Given the description of an element on the screen output the (x, y) to click on. 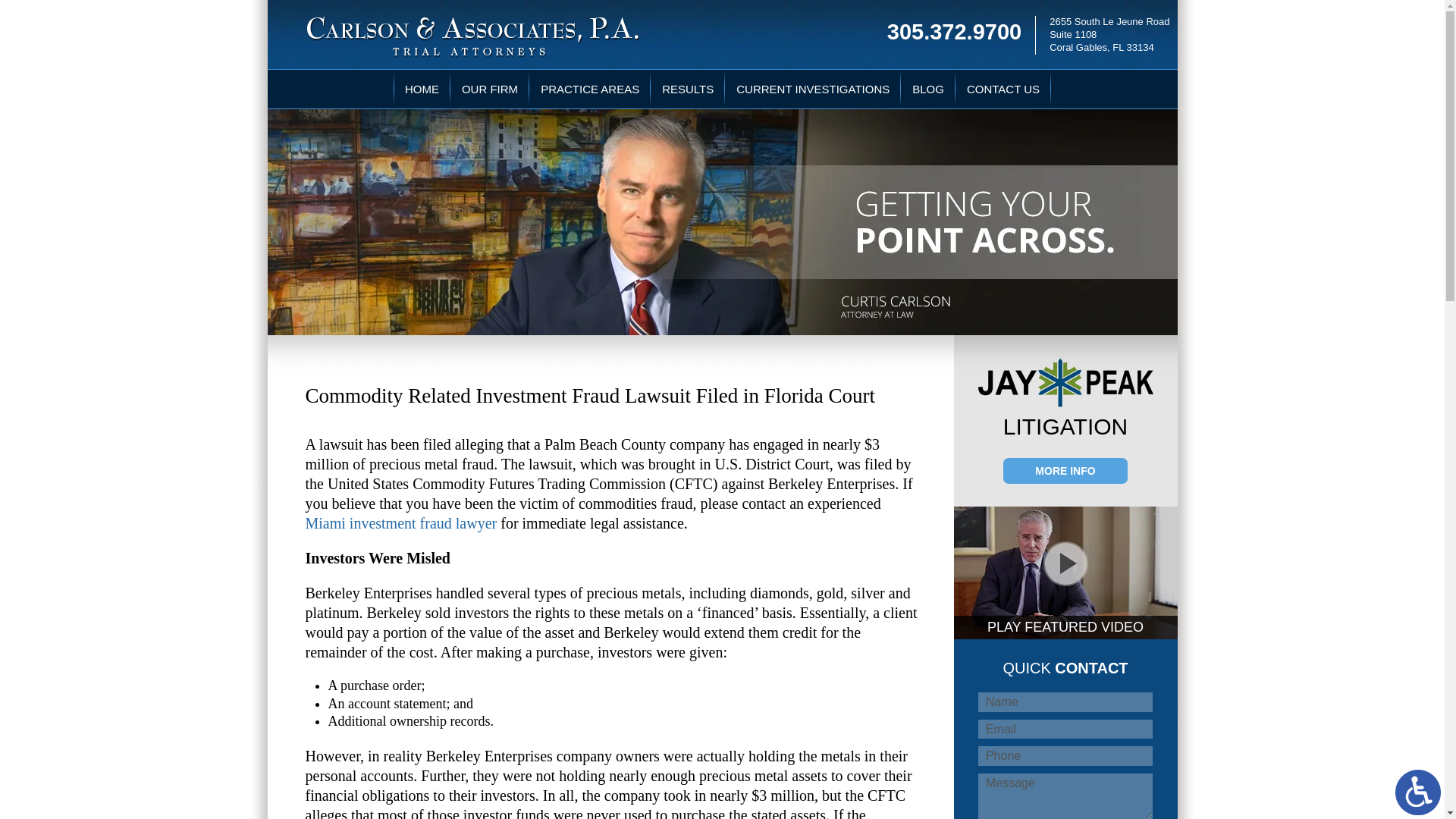
OUR FIRM (489, 88)
Phone (1065, 755)
HOME (421, 88)
Name (1065, 701)
305.372.9700 (960, 29)
Email (1065, 729)
PRACTICE AREAS (589, 88)
BLOG (928, 88)
Jay Peak (1065, 382)
RESULTS (686, 88)
CURRENT INVESTIGATIONS (812, 88)
